Given the description of an element on the screen output the (x, y) to click on. 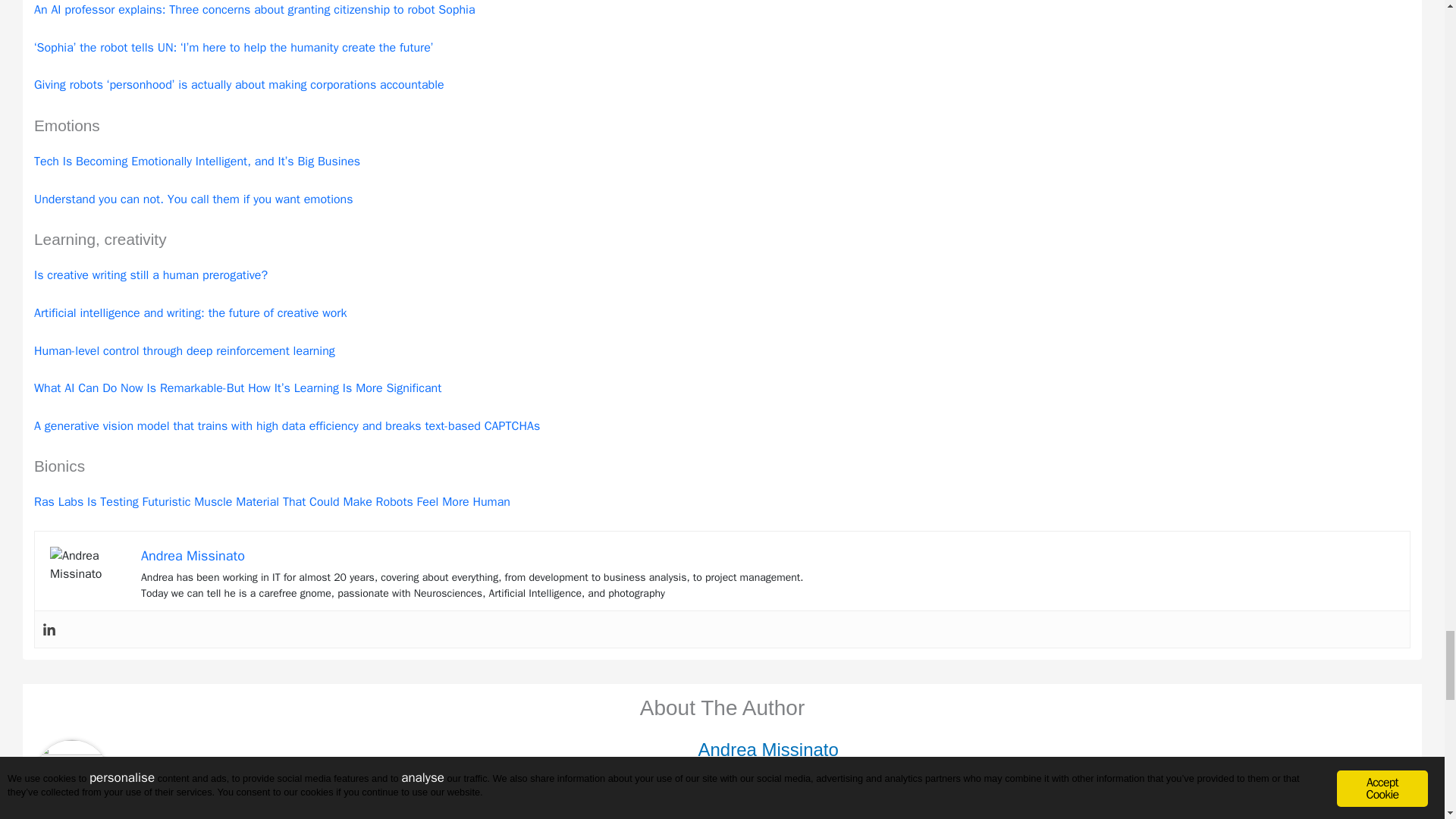
Linkedin (49, 629)
